Given the description of an element on the screen output the (x, y) to click on. 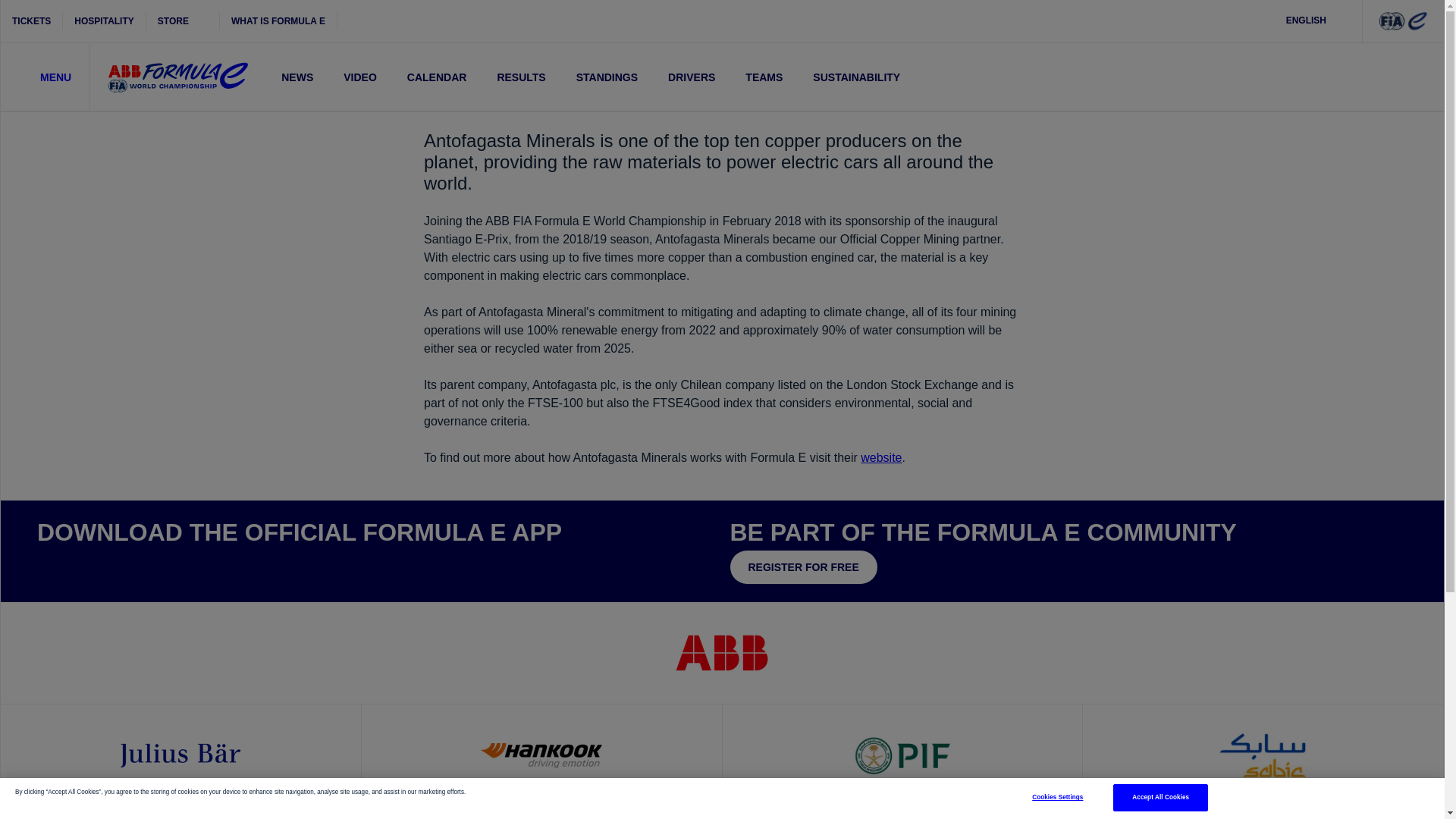
TEAMS (763, 76)
SAUDIA (1340, 815)
Allianz (103, 815)
Global Partner (180, 755)
Antofagasta Minerals (309, 815)
DRIVERS (691, 76)
MENU (45, 76)
Infosys (1134, 815)
Visit the App Store (81, 564)
WHAT IS FORMULA E (278, 21)
label.menu.home.link (177, 77)
Visit the Google Play Store (175, 564)
RESULTS (520, 76)
Title Partner (721, 652)
STANDINGS (606, 76)
